Given the description of an element on the screen output the (x, y) to click on. 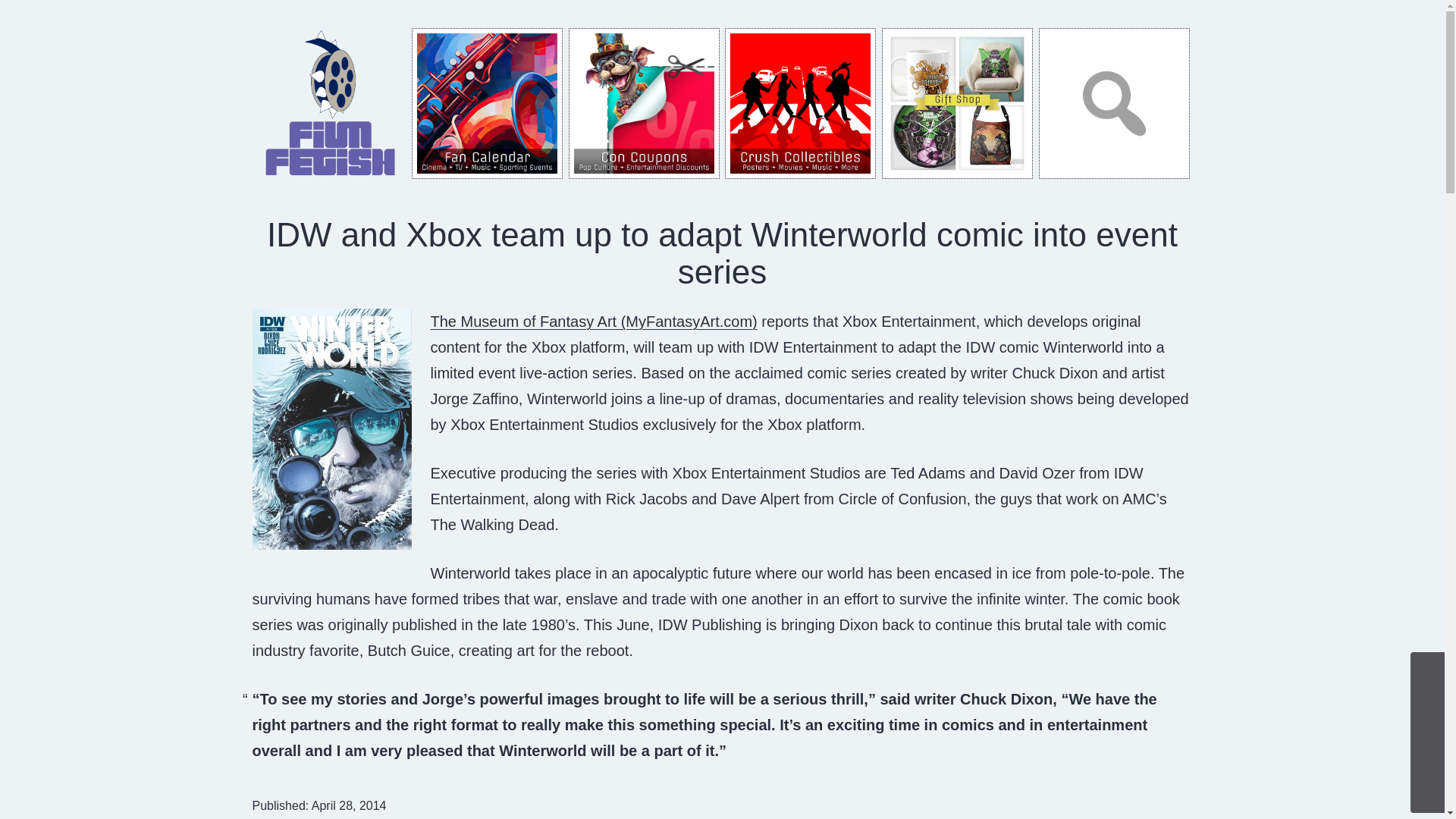
Film Fetish Home (330, 103)
Crush Collectibles (800, 103)
Film Fetish Official Shop (957, 103)
Fan Calendar (487, 103)
Search (1114, 103)
Home (330, 102)
Con Coupons (644, 103)
